Given the description of an element on the screen output the (x, y) to click on. 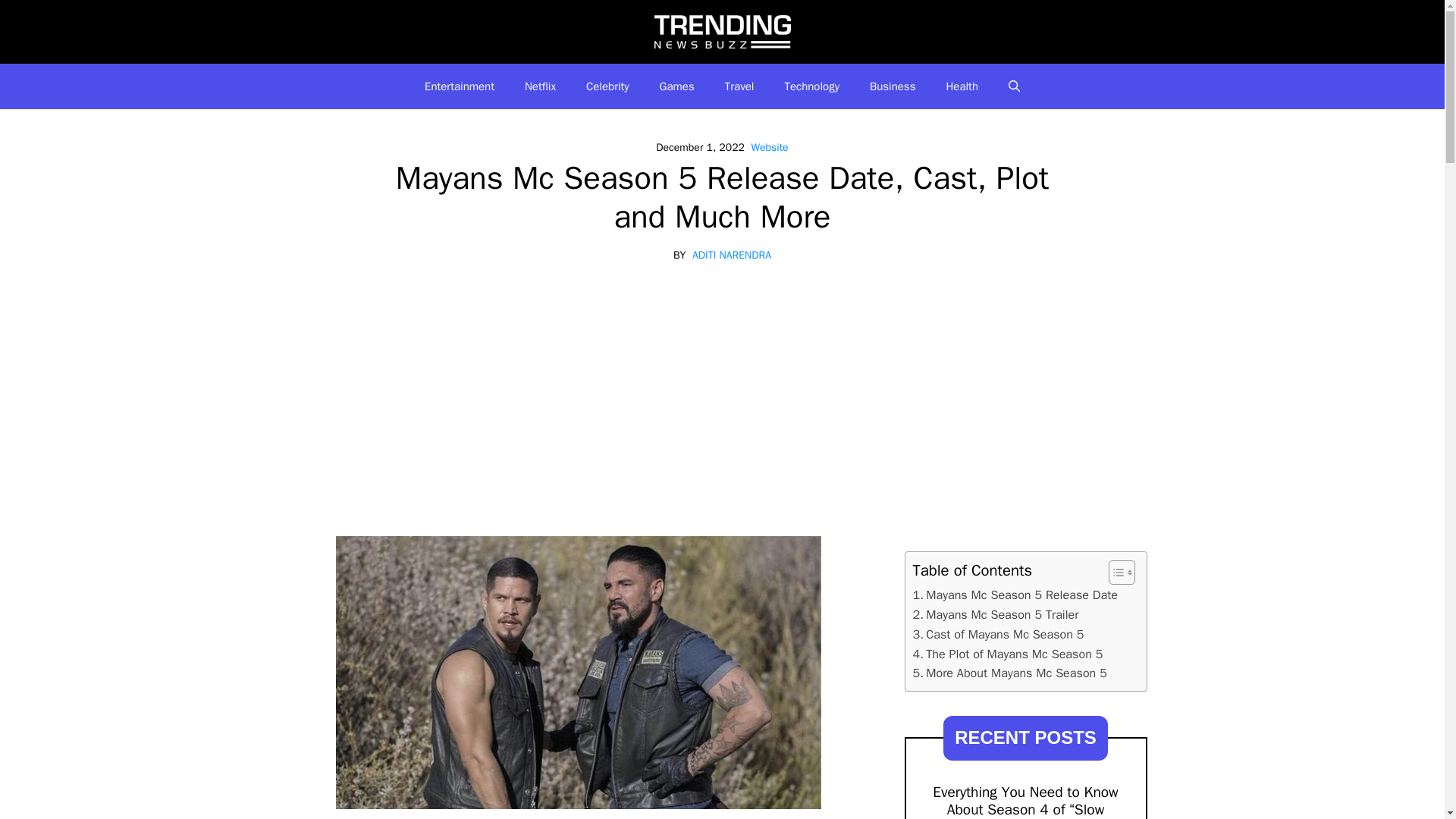
Travel (740, 85)
More About Mayans Mc Season 5 (1009, 673)
Technology (811, 85)
Cast of Mayans Mc Season 5 (998, 634)
Entertainment (459, 85)
Mayans Mc Season 5 Trailer (995, 614)
Celebrity (607, 85)
Health (961, 85)
Games (677, 85)
Mayans Mc Season 5 Release Date (1015, 595)
The Plot of Mayans Mc Season 5 (1007, 654)
ADITI NARENDRA (732, 254)
Business (892, 85)
Mayans Mc Season 5 Release Date (1015, 595)
Netflix (539, 85)
